Given the description of an element on the screen output the (x, y) to click on. 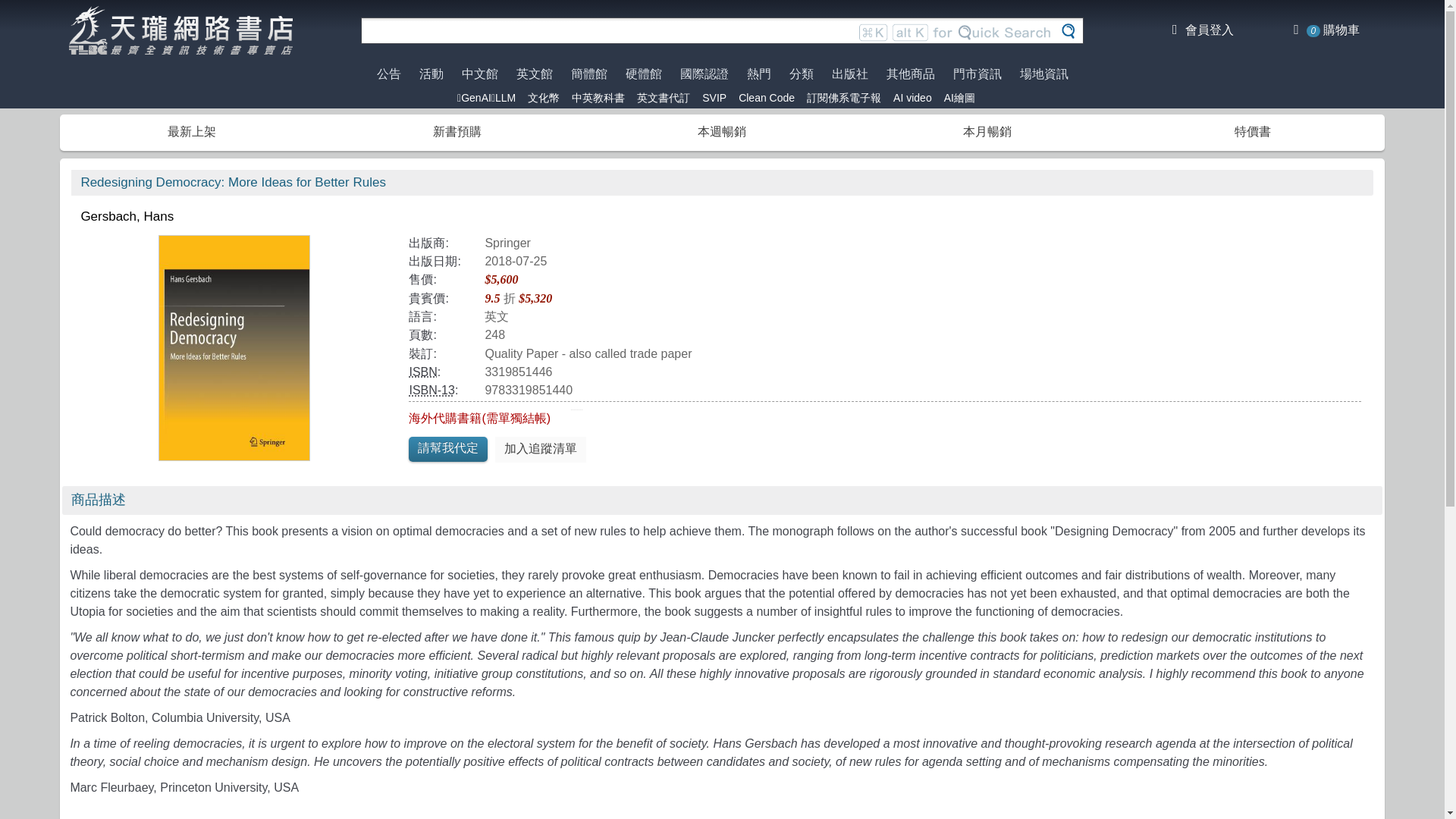
European Article Number (431, 390)
International Standard Book Number (422, 371)
